Given the description of an element on the screen output the (x, y) to click on. 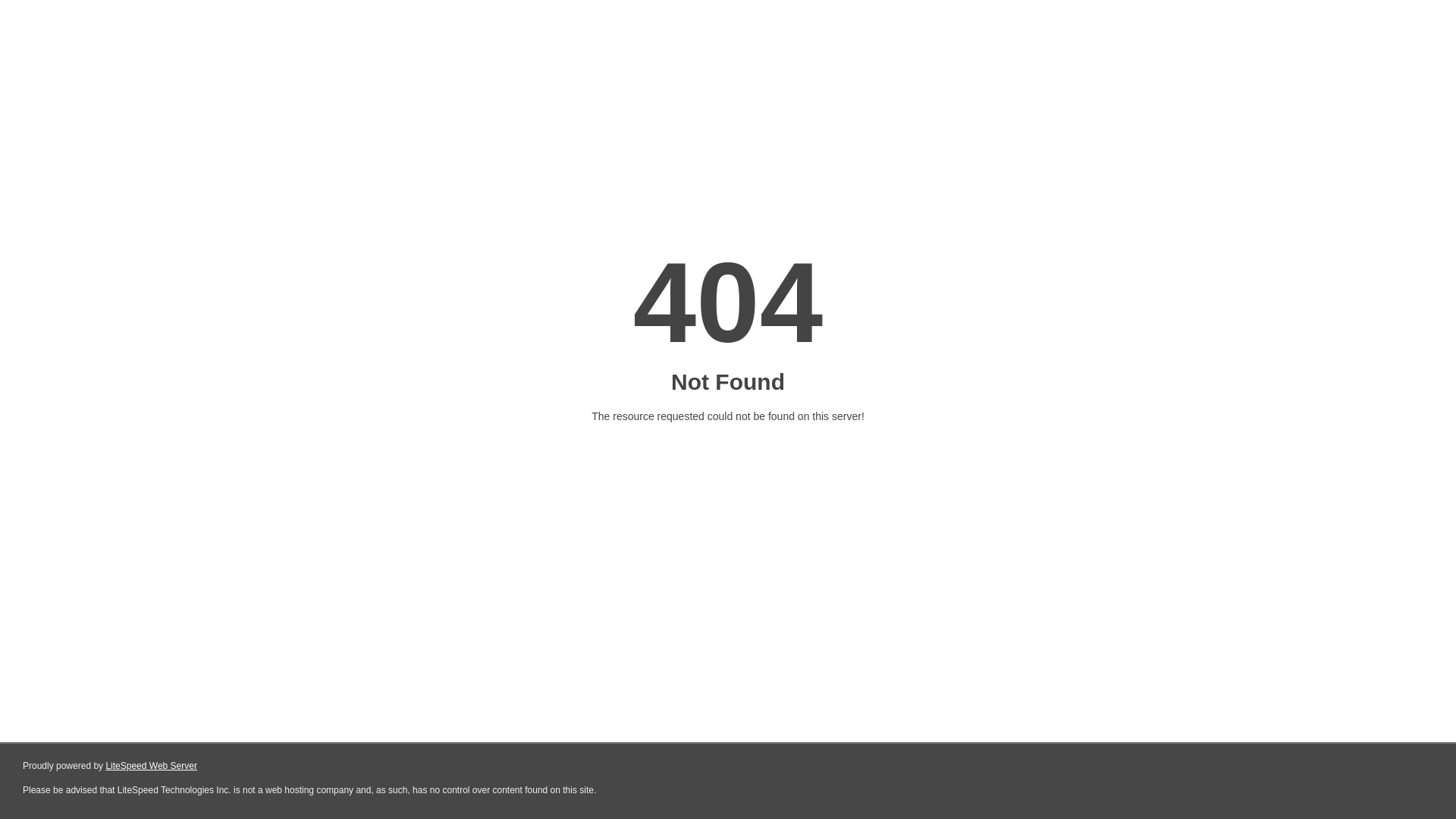
LiteSpeed Web Server Element type: text (151, 765)
